Given the description of an element on the screen output the (x, y) to click on. 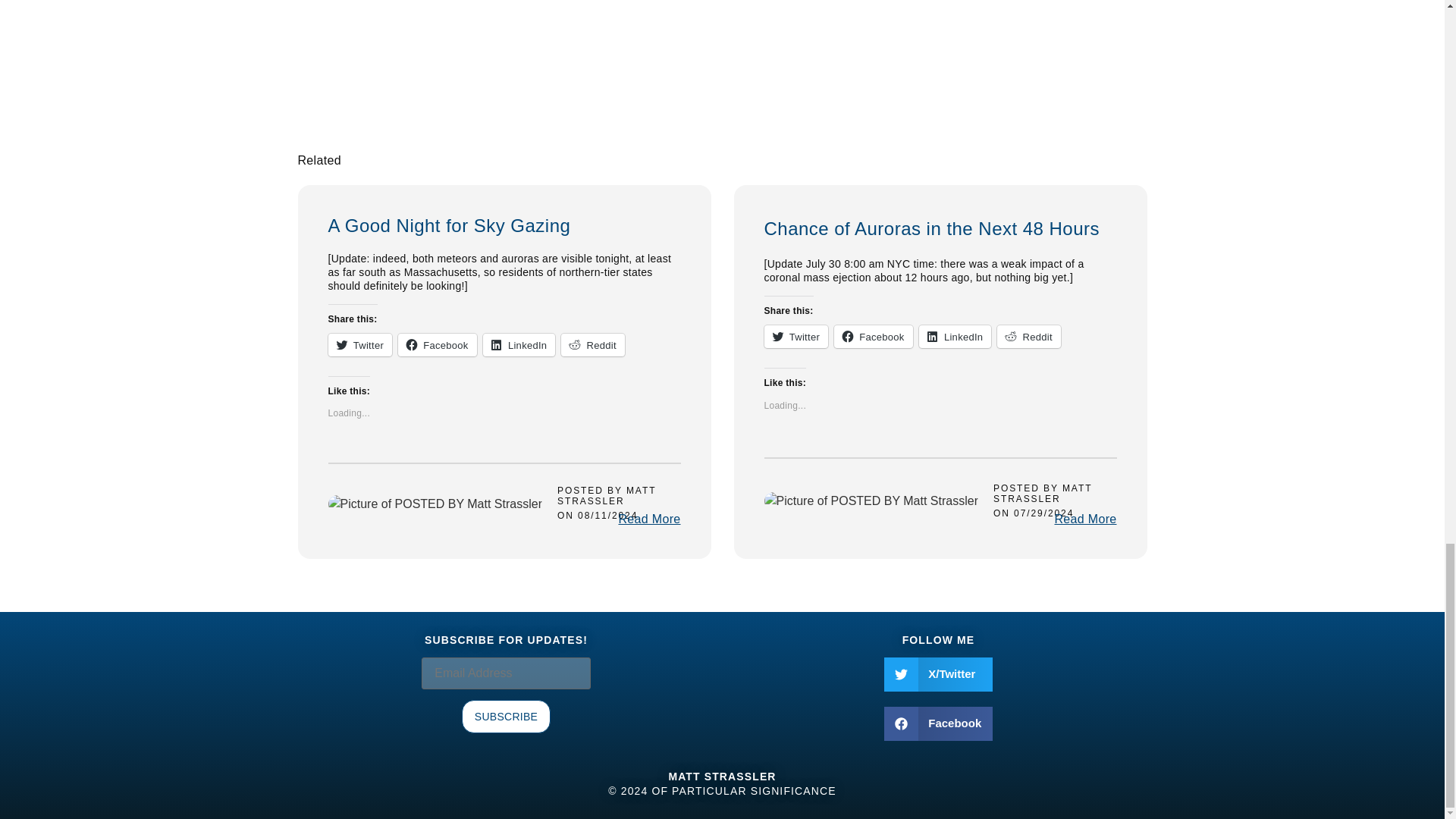
Click to share on Facebook (873, 336)
Click to share on LinkedIn (519, 344)
Click to share on Twitter (359, 344)
Click to share on Twitter (796, 336)
Click to share on Facebook (437, 344)
Click to share on Reddit (1029, 336)
Click to share on LinkedIn (954, 336)
Click to share on Reddit (592, 344)
Comment Form (581, 71)
